Given the description of an element on the screen output the (x, y) to click on. 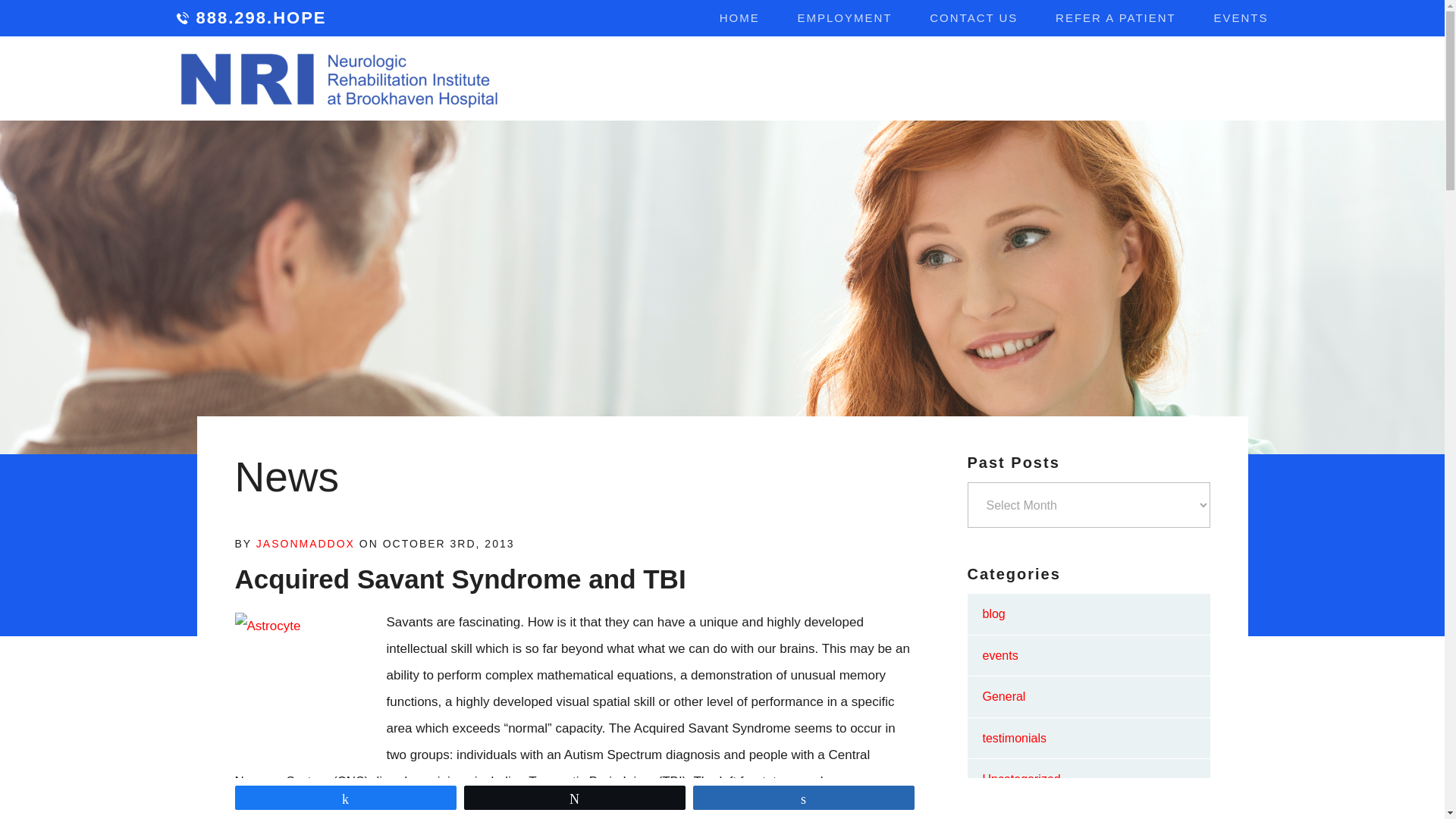
ADMISSIONS PROCESS (1134, 80)
PROGRAMS (770, 80)
Go (1245, 79)
888.298.HOPE (251, 18)
CONTACT US (973, 17)
Posts by jasonmaddox (305, 542)
ABOUT US (654, 80)
EMPLOYMENT (844, 17)
HOME (739, 17)
EVENTS (1240, 17)
